Given the description of an element on the screen output the (x, y) to click on. 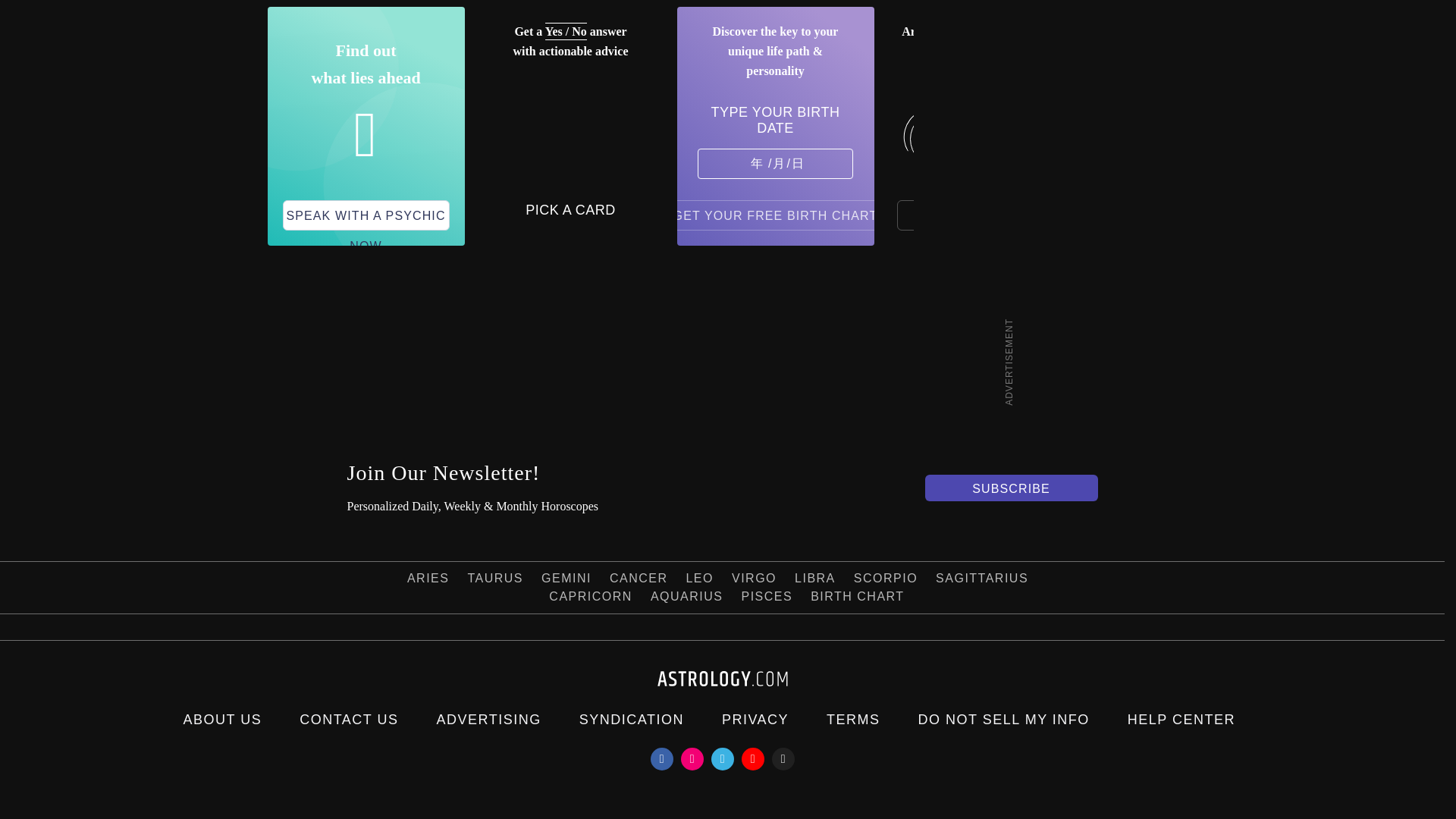
Get your free birth chart (775, 214)
